Given the description of an element on the screen output the (x, y) to click on. 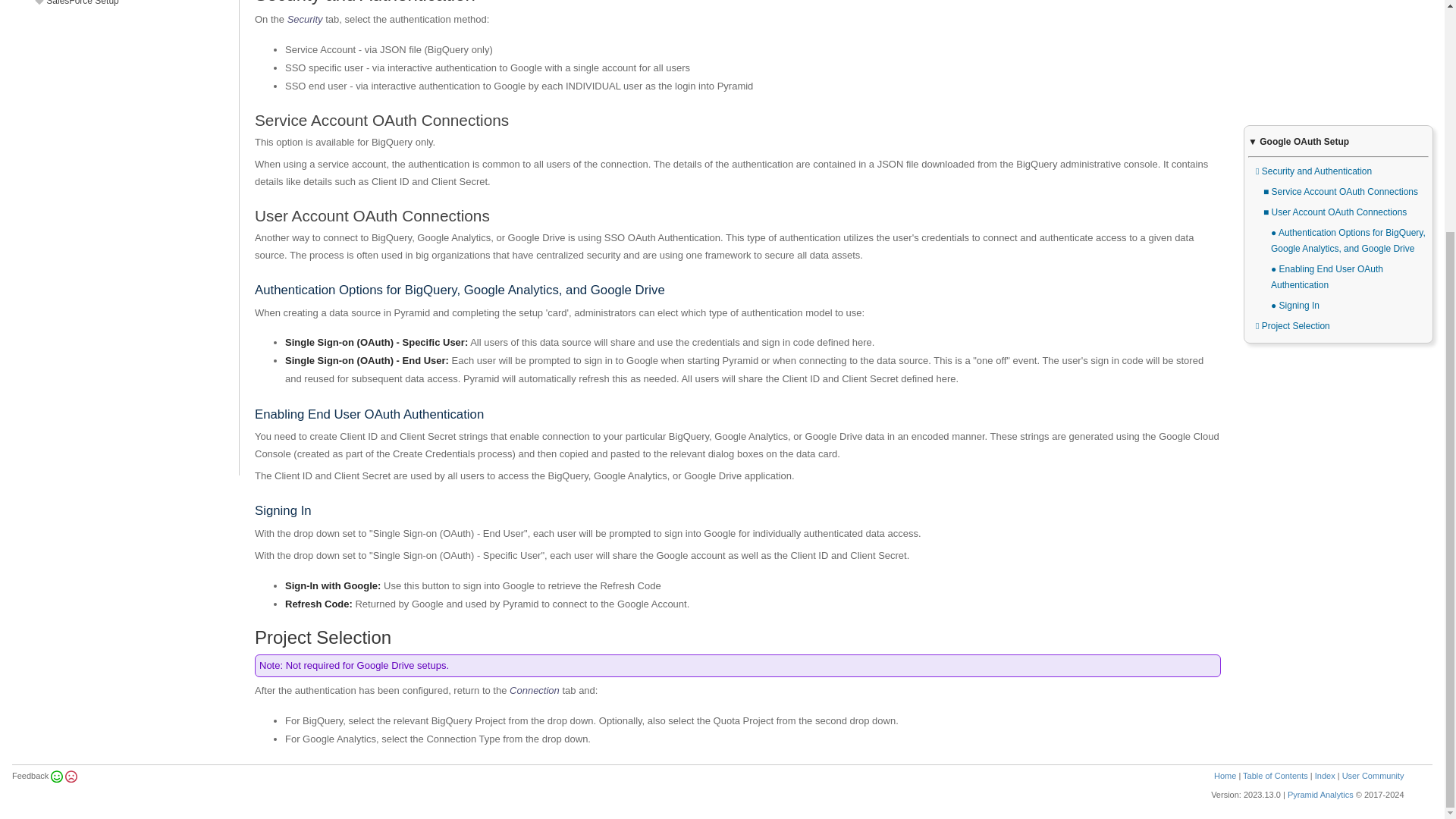
SalesForce Setup (125, 4)
Yes, this article was helpful. (56, 775)
No, this article wasn't helpful. (69, 775)
